Given the description of an element on the screen output the (x, y) to click on. 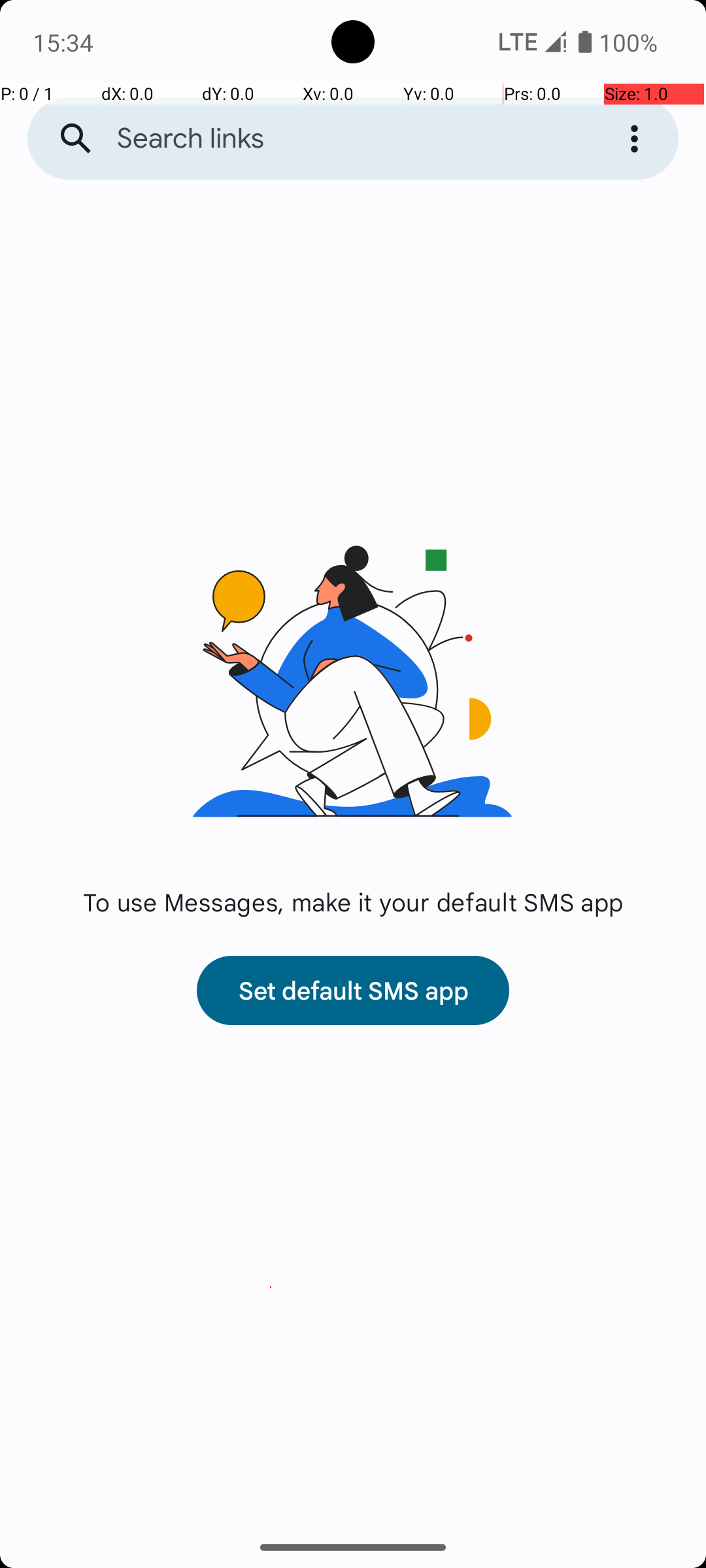
To use Messages, make it your default SMS app Element type: android.widget.TextView (353, 901)
Set default SMS app Element type: android.widget.Button (352, 990)
